Given the description of an element on the screen output the (x, y) to click on. 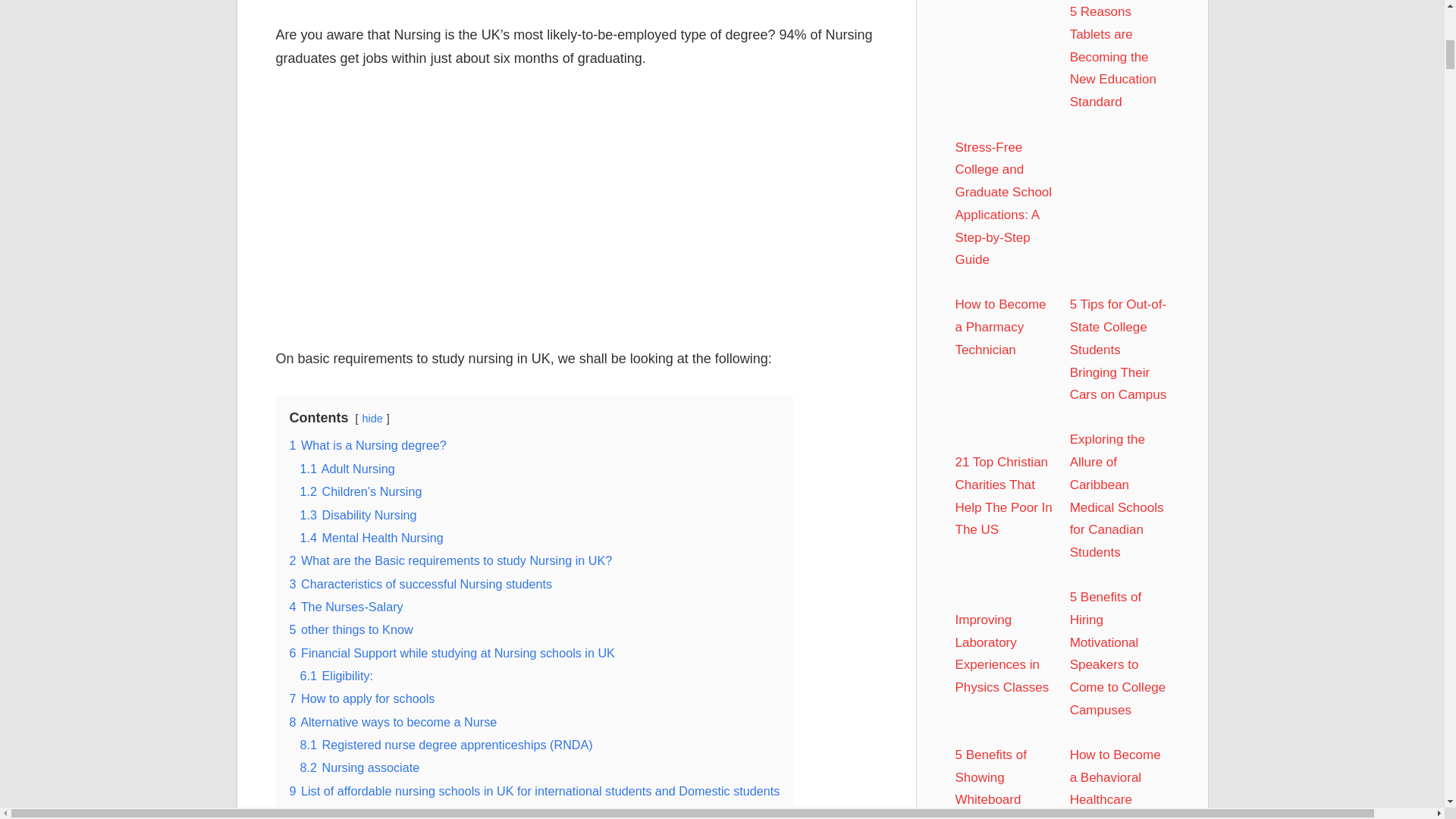
1 What is a Nursing degree? (367, 445)
hide (372, 418)
1.1 Adult Nursing (346, 468)
